Given the description of an element on the screen output the (x, y) to click on. 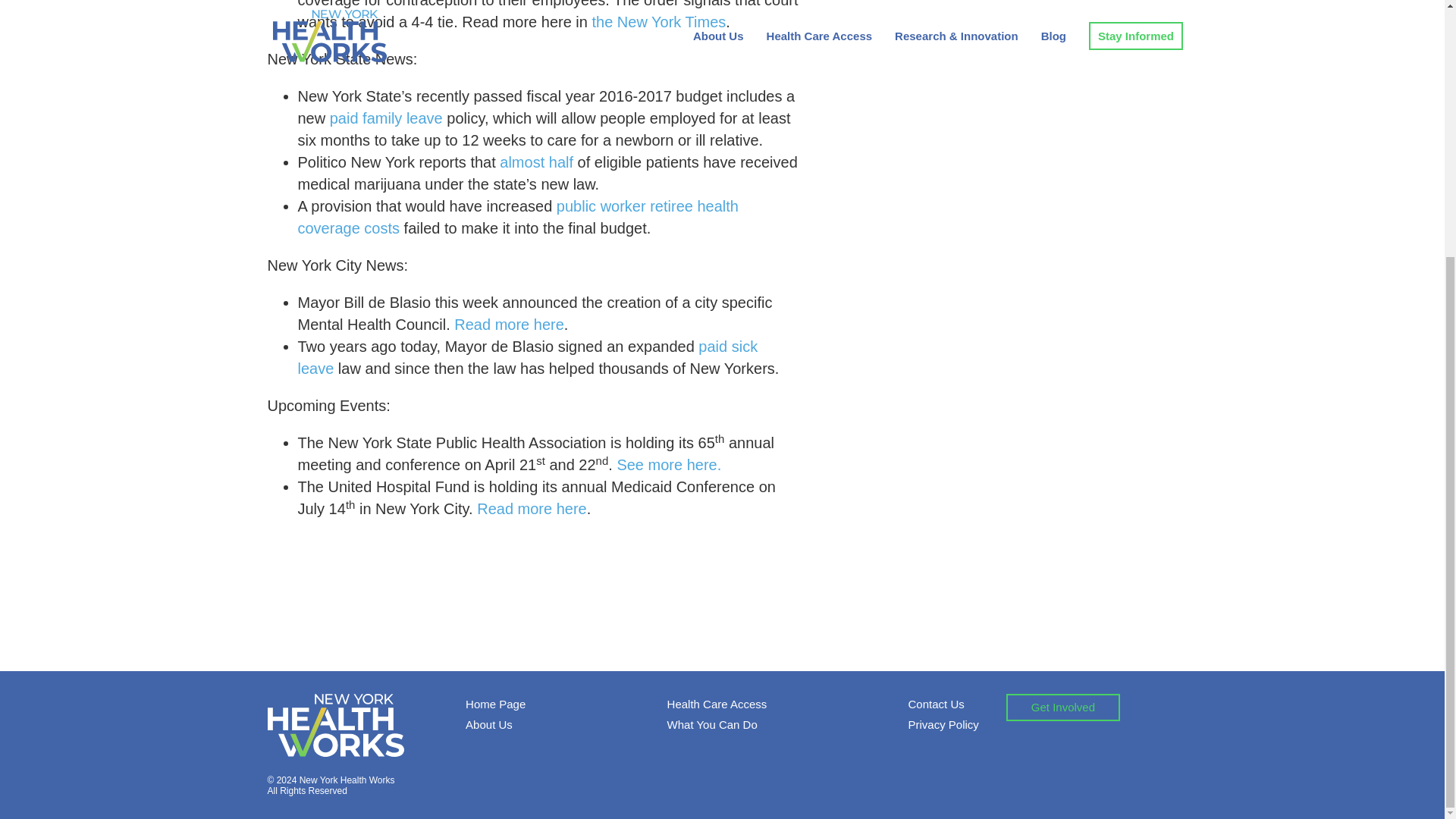
public worker retiree health coverage costs (517, 217)
Contact Us (935, 703)
Read more here (509, 324)
paid sick leave (527, 357)
Get Involved (1062, 707)
Health Care Access (716, 703)
the New York Times (658, 21)
See more here. (667, 464)
What You Can Do (711, 724)
paid family leave (386, 117)
